Given the description of an element on the screen output the (x, y) to click on. 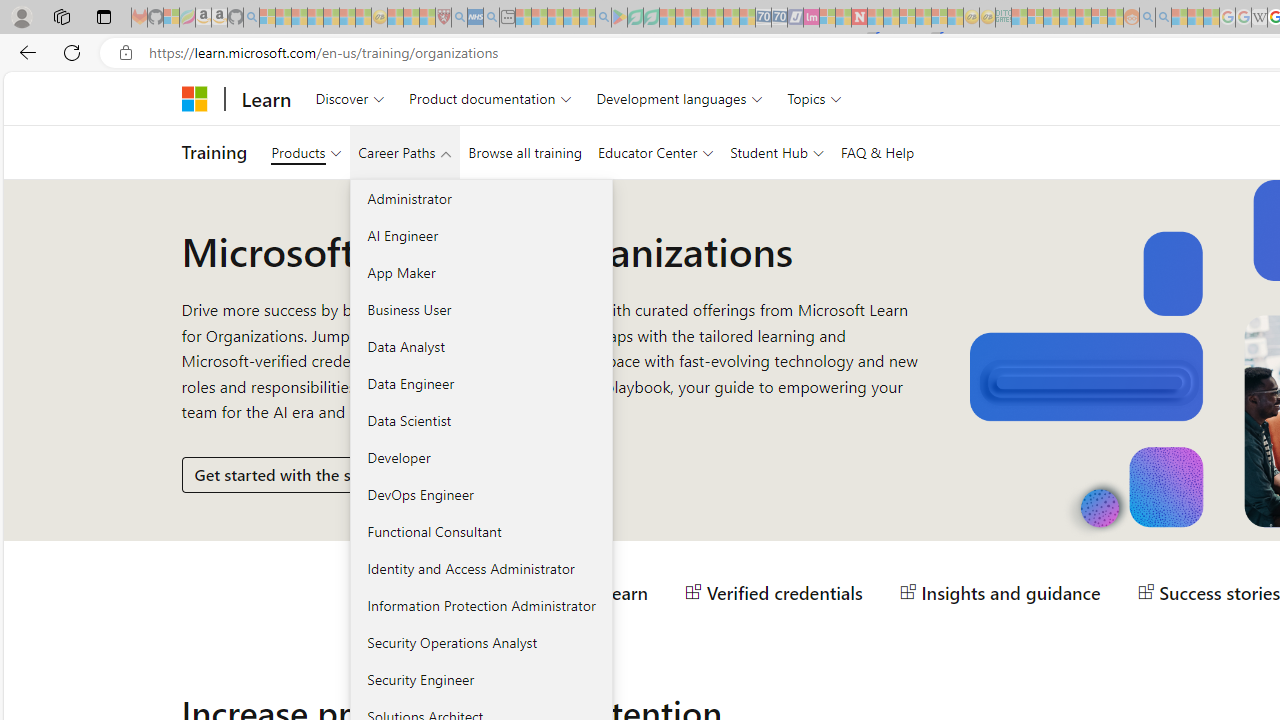
Security Engineer (480, 678)
AI Engineer (480, 235)
Product documentation (490, 98)
Topics (815, 98)
Student Hub (777, 152)
Products (306, 152)
Plans on Microsoft Learn (536, 592)
Developer (480, 457)
Browse all training (524, 152)
